Given the description of an element on the screen output the (x, y) to click on. 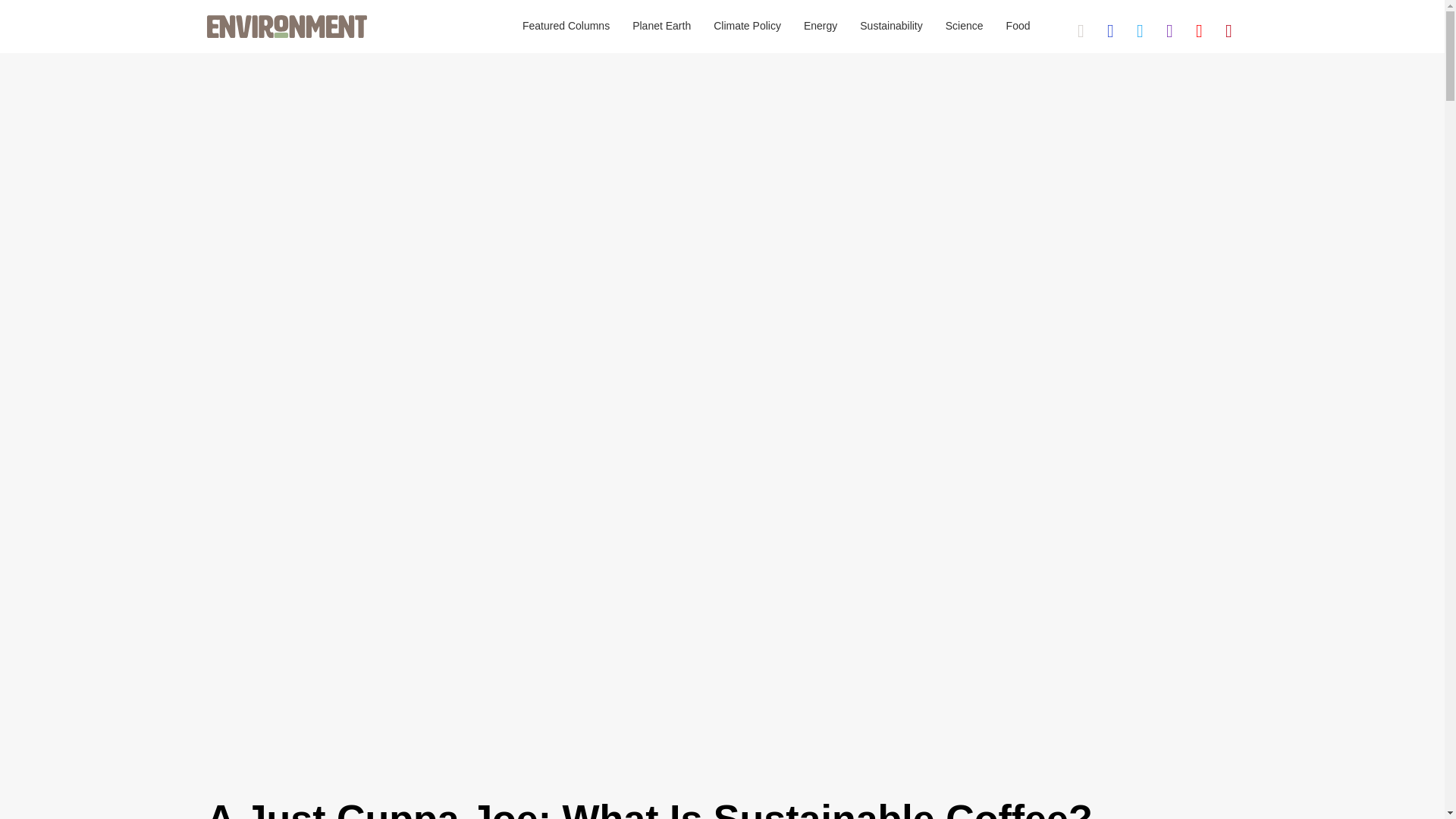
Energy (820, 26)
Food (1018, 26)
Featured Columns (566, 26)
Sustainability (891, 26)
Climate Policy (746, 26)
Science (964, 26)
Planet Earth (660, 26)
